Given the description of an element on the screen output the (x, y) to click on. 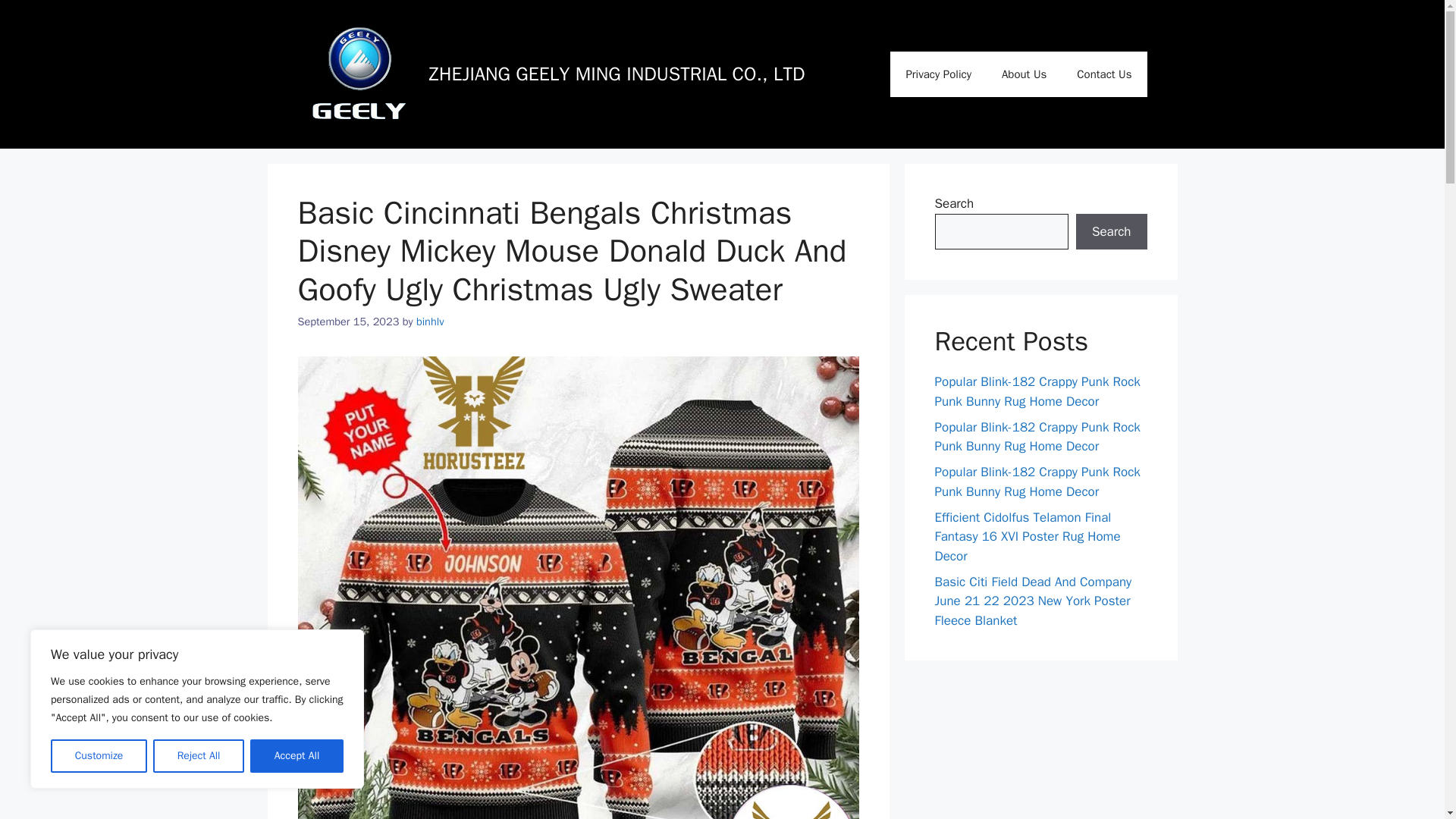
Contact Us (1104, 74)
binhlv (430, 321)
View all posts by binhlv (430, 321)
Reject All (198, 756)
Accept All (296, 756)
ZHEJIANG GEELY MING INDUSTRIAL CO., LTD (617, 73)
About Us (1024, 74)
Privacy Policy (938, 74)
Customize (98, 756)
